Given the description of an element on the screen output the (x, y) to click on. 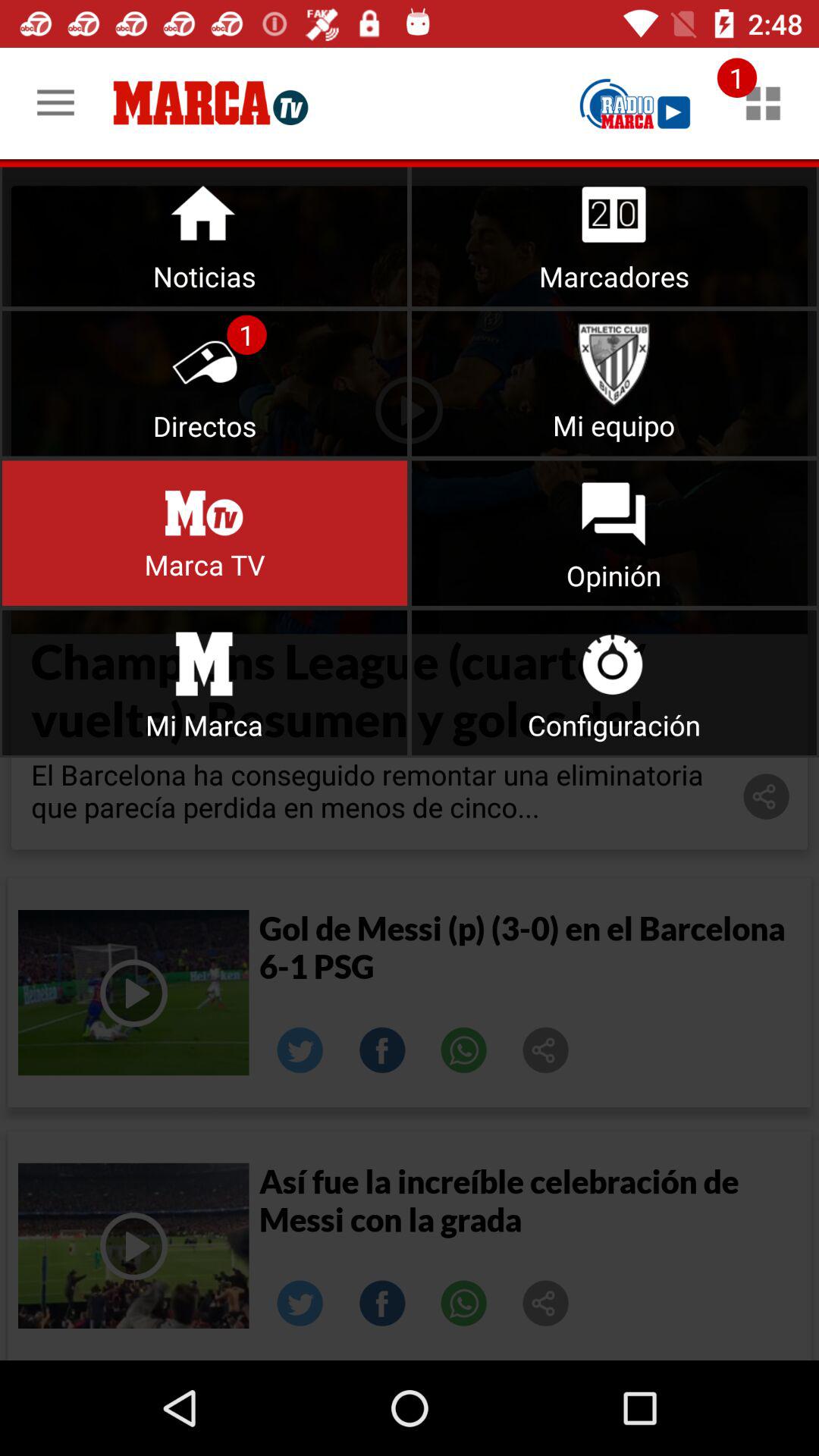
go to opinion (614, 532)
